Given the description of an element on the screen output the (x, y) to click on. 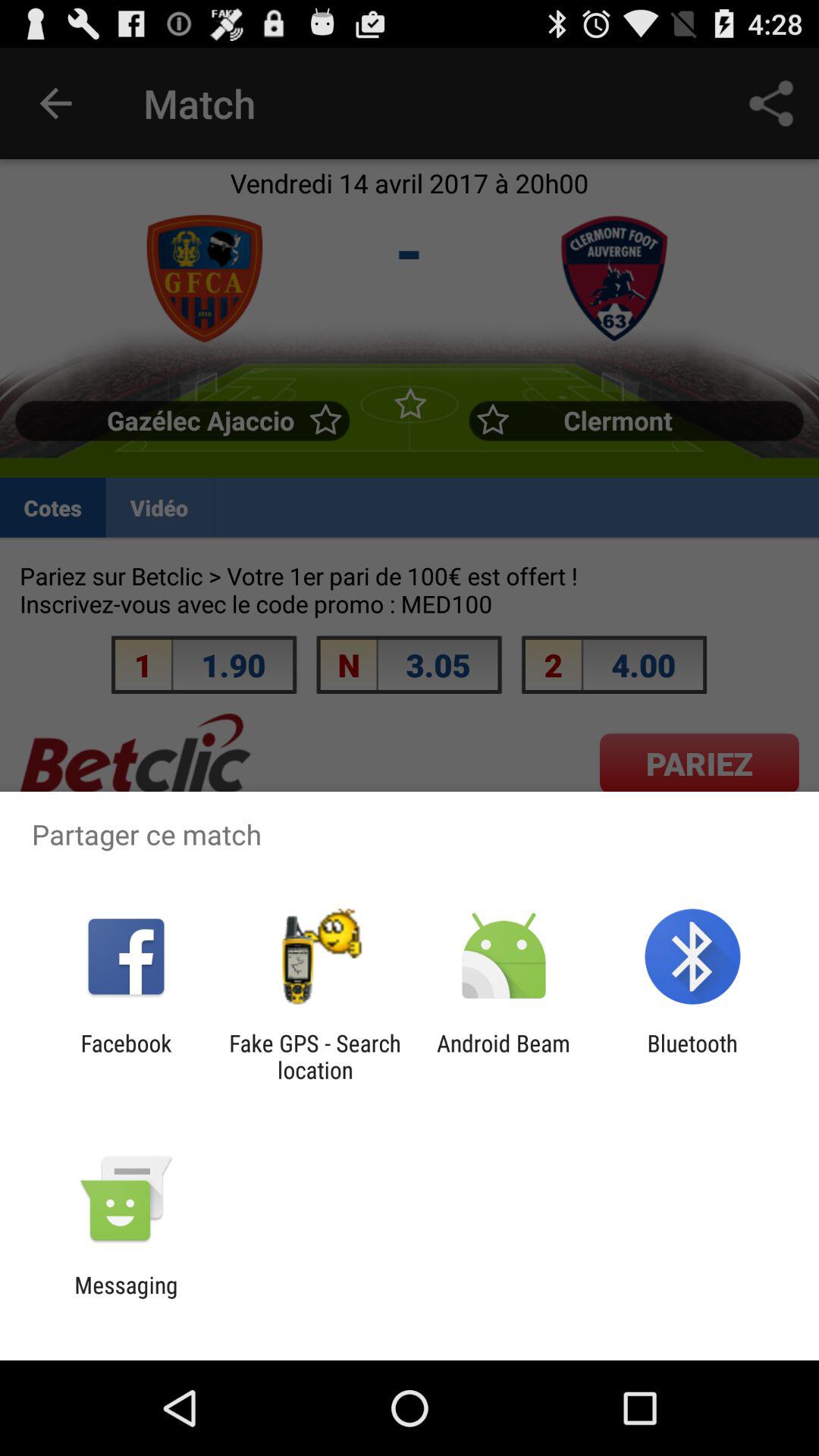
flip until facebook icon (125, 1056)
